Given the description of an element on the screen output the (x, y) to click on. 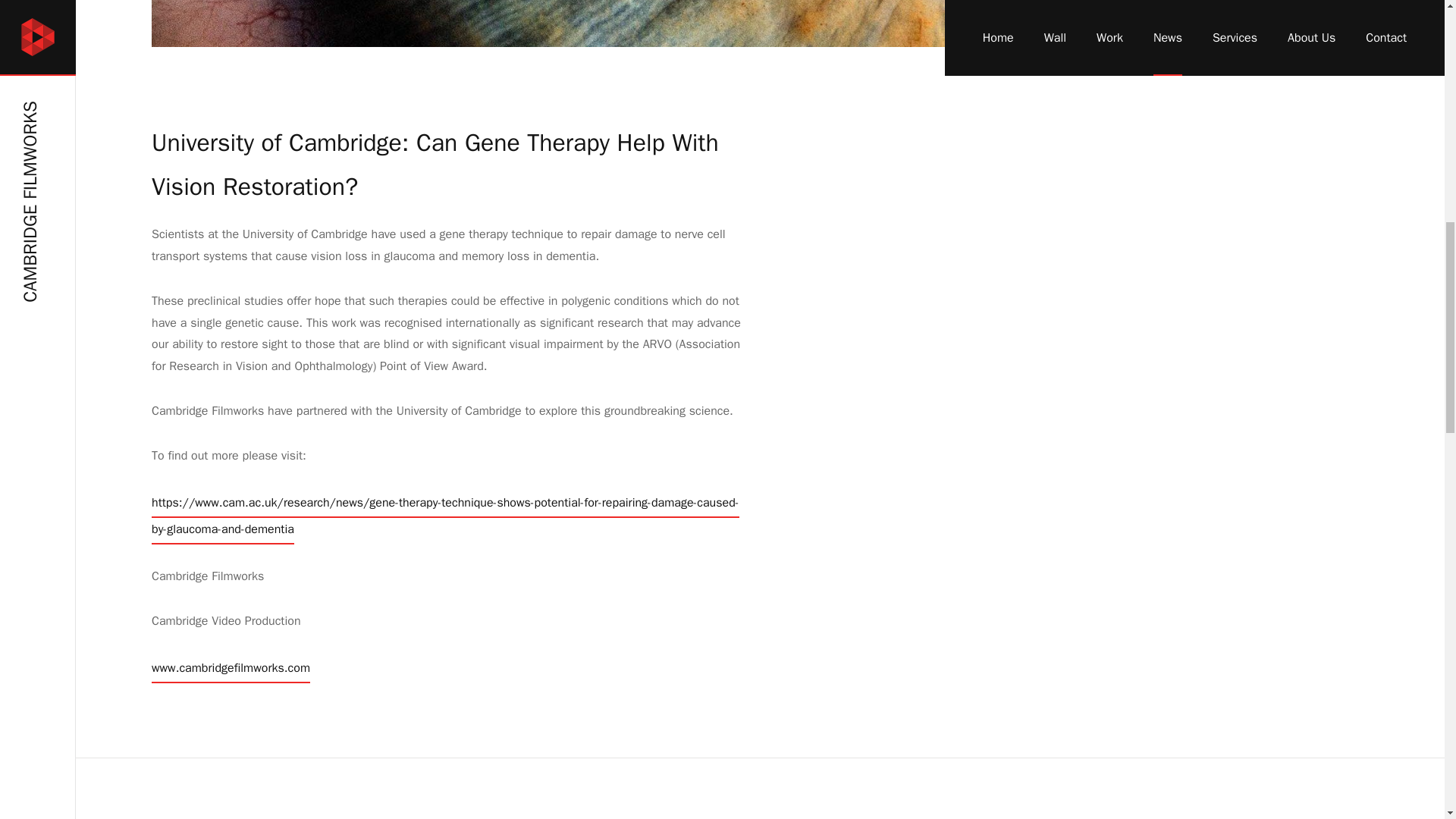
www.cambridgefilmworks.com (230, 667)
